Given the description of an element on the screen output the (x, y) to click on. 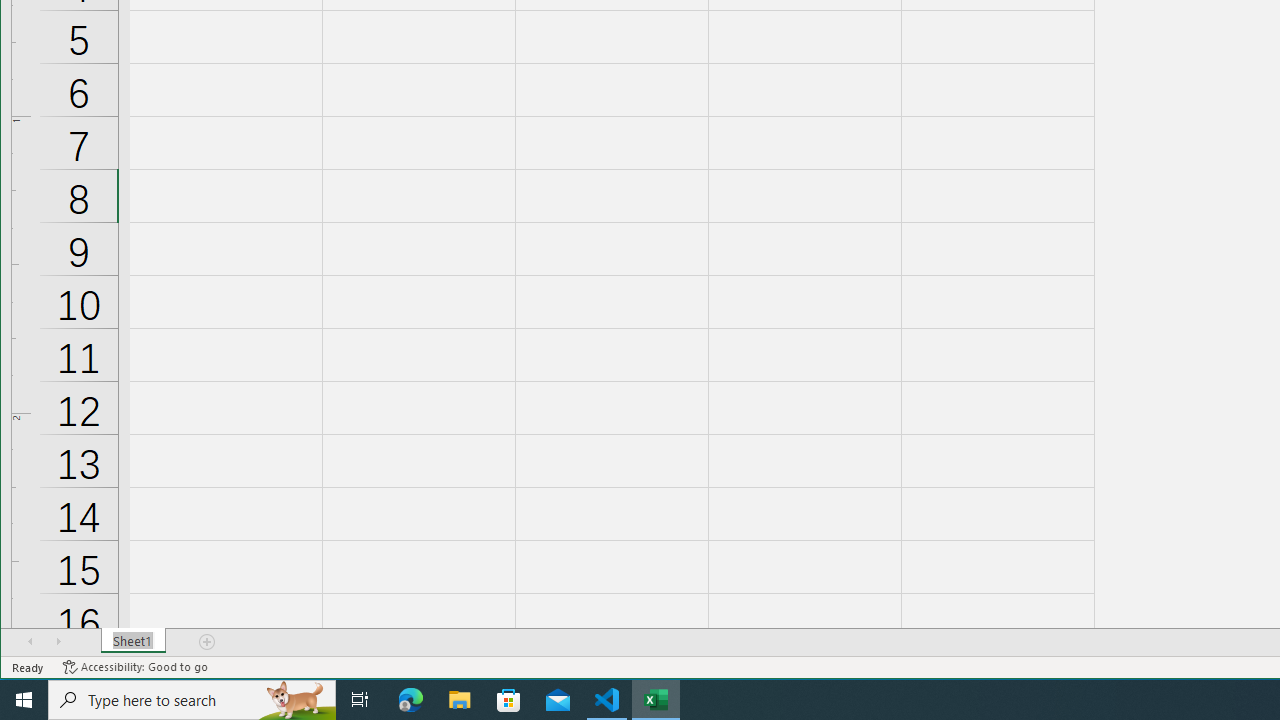
Type here to search (191, 699)
